Given the description of an element on the screen output the (x, y) to click on. 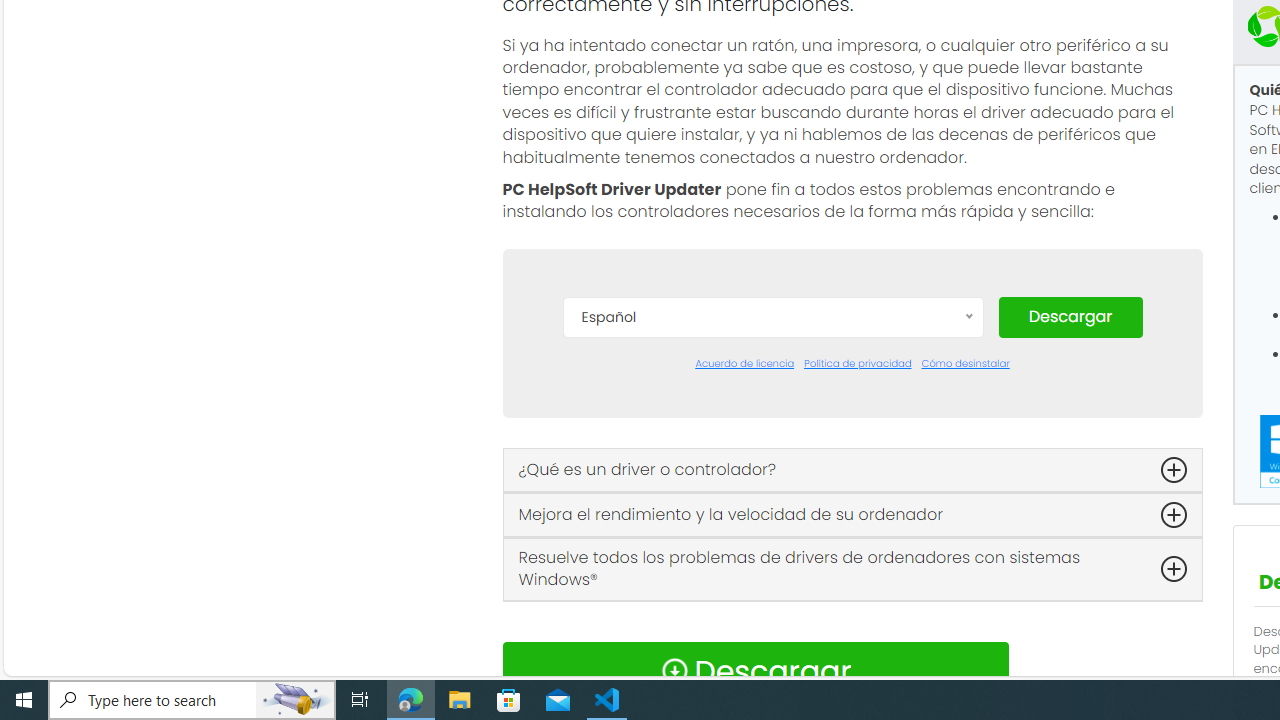
Download Icon Descargar (754, 670)
